Given the description of an element on the screen output the (x, y) to click on. 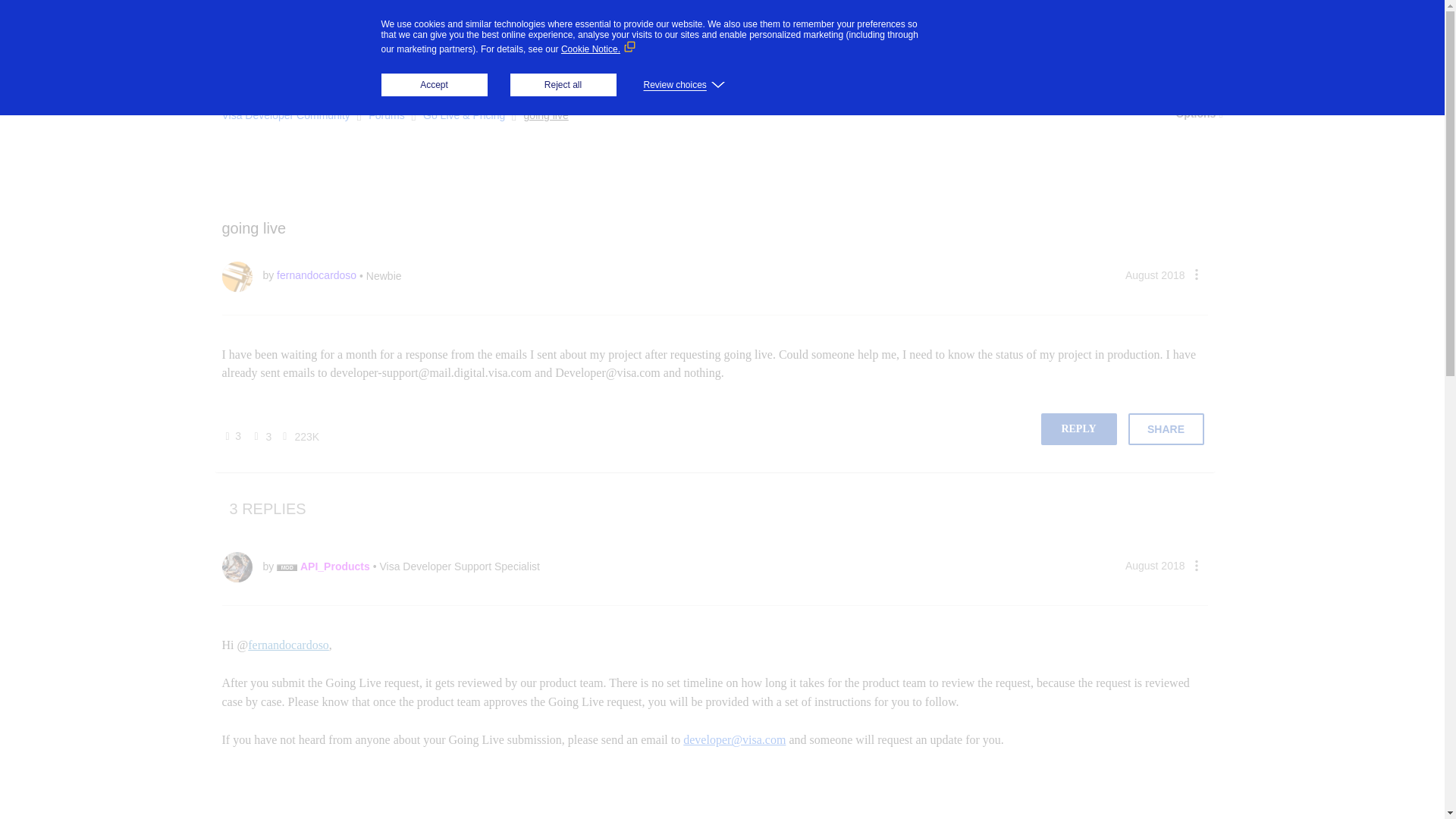
Webinars (550, 67)
Resources (624, 25)
Posted on (1155, 274)
Products (453, 25)
fernandocardoso (236, 276)
Forums (359, 68)
Community Home (268, 67)
Tutorials (481, 67)
Blogs (421, 67)
Replies (253, 436)
